Given the description of an element on the screen output the (x, y) to click on. 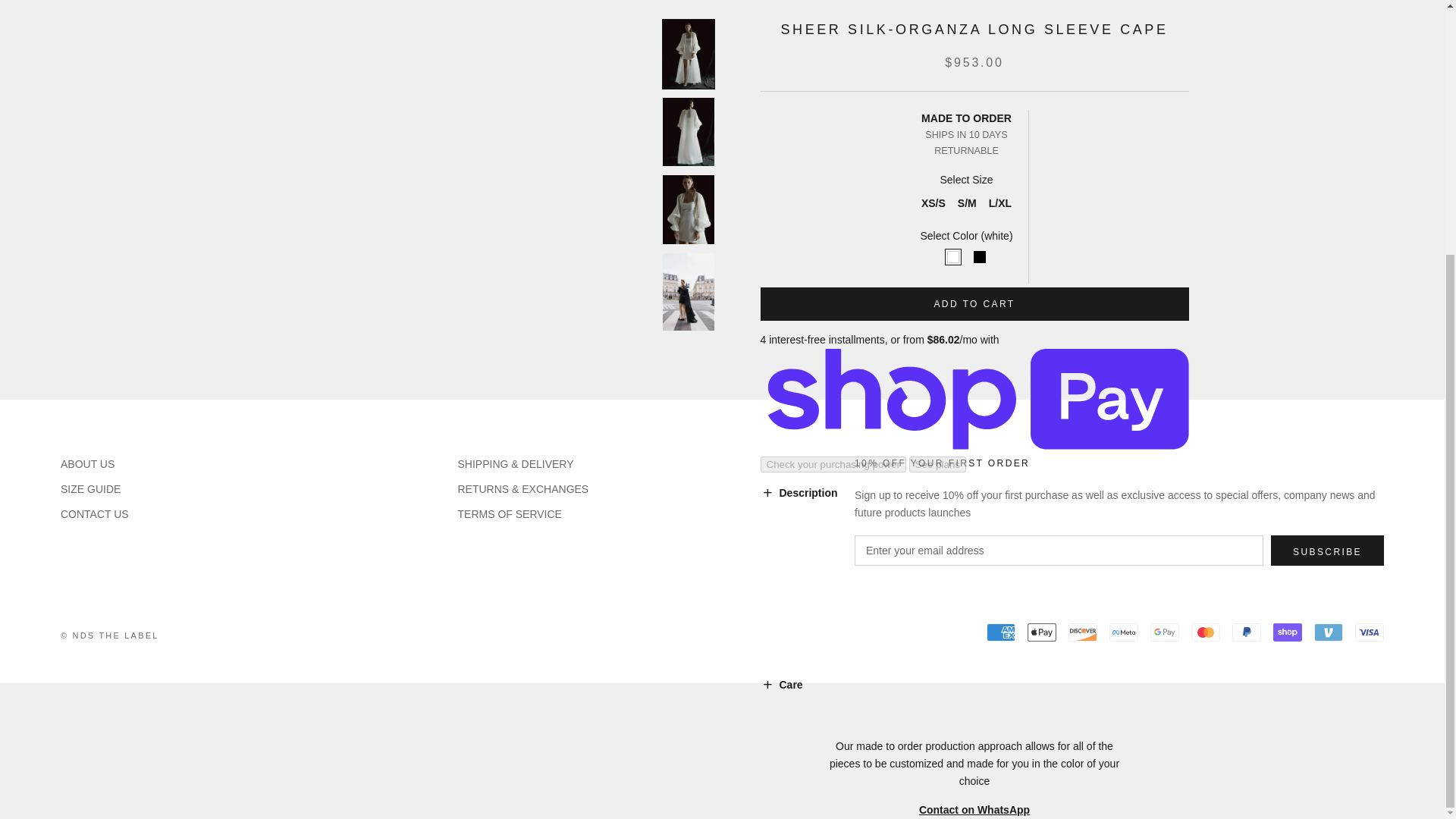
Discover (1082, 632)
Apple Pay (1042, 632)
PayPal (1245, 632)
Mastercard (1205, 632)
Meta Pay (1123, 632)
Venmo (1328, 632)
Shop Pay (1286, 632)
Google Pay (1164, 632)
American Express (1000, 632)
Visa (1369, 632)
